Given the description of an element on the screen output the (x, y) to click on. 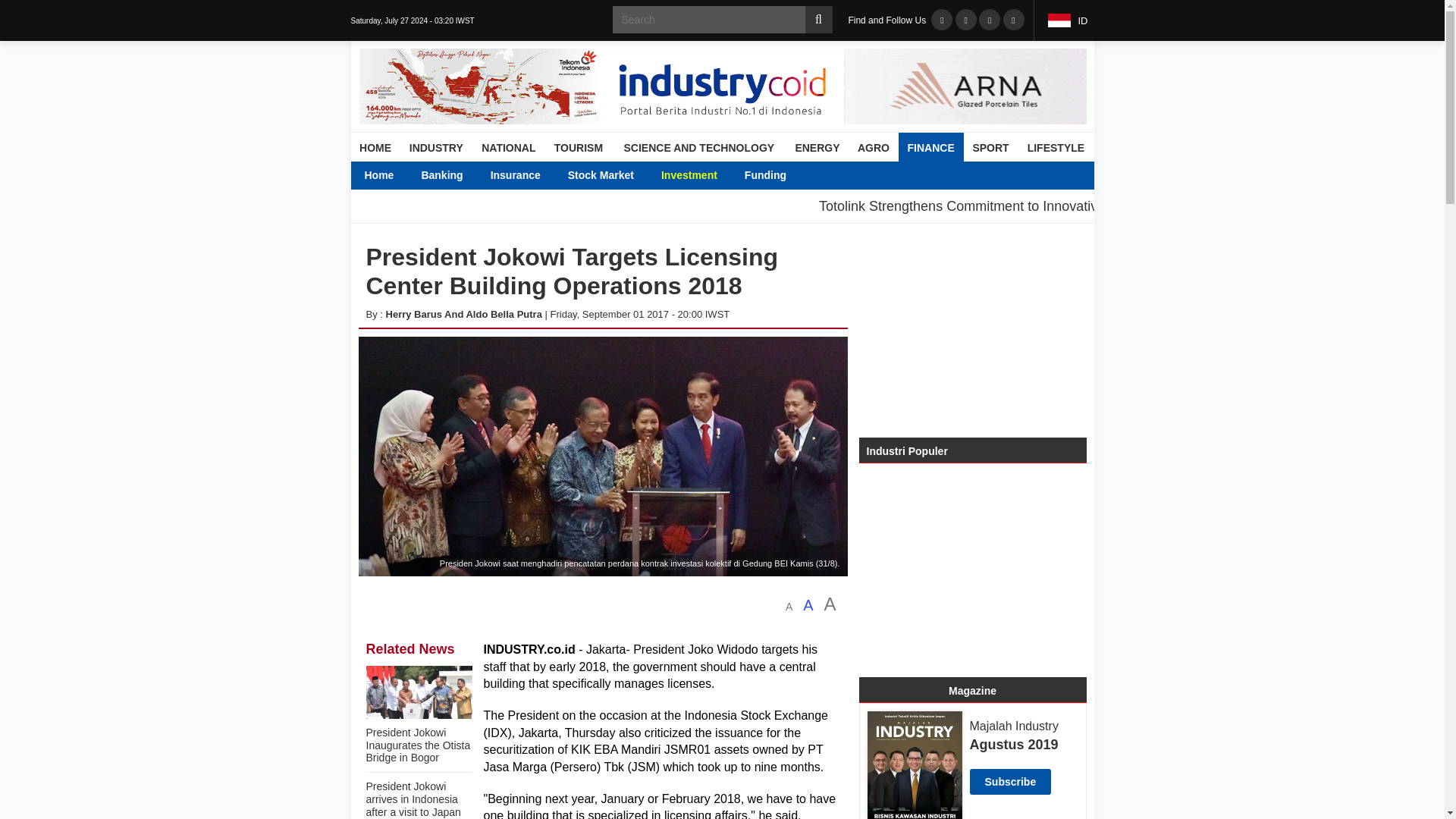
Education (446, 175)
HOME (374, 147)
Footwear (738, 175)
Destinations (452, 175)
MICE (648, 175)
TOURISM (577, 147)
SCIENCE AND TECHNOLOGY (698, 147)
President Jokowi arrives in Indonesia after a visit to Japan (412, 799)
Paper (996, 175)
Transportation (663, 175)
INDUSTRY (435, 147)
Law (489, 175)
Maritime (665, 175)
President Jokowi Inaugurates the Otista Bridge in Bogor (417, 745)
Pharmacy (1064, 175)
